Given the description of an element on the screen output the (x, y) to click on. 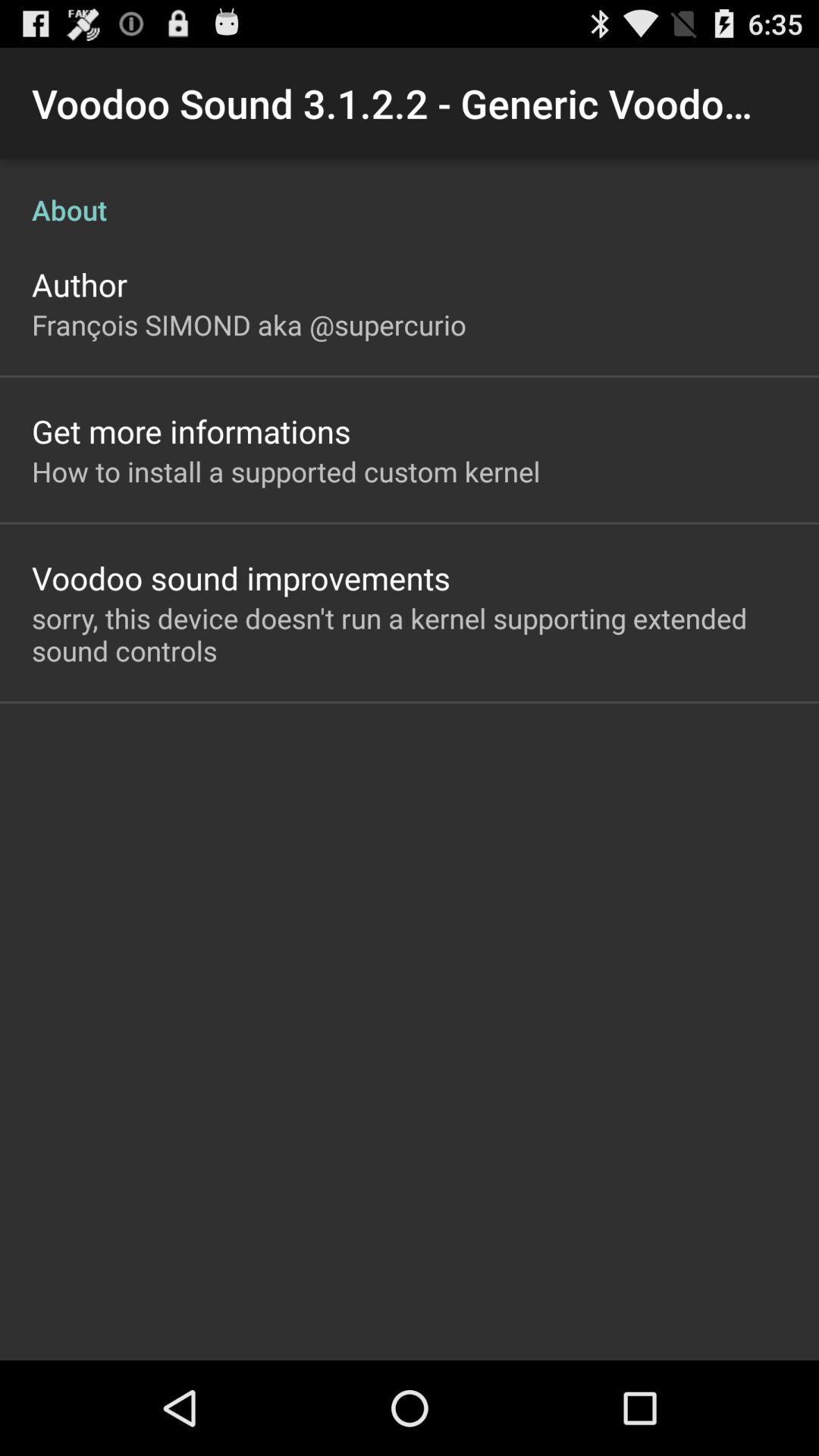
tap icon above the how to install app (190, 430)
